Given the description of an element on the screen output the (x, y) to click on. 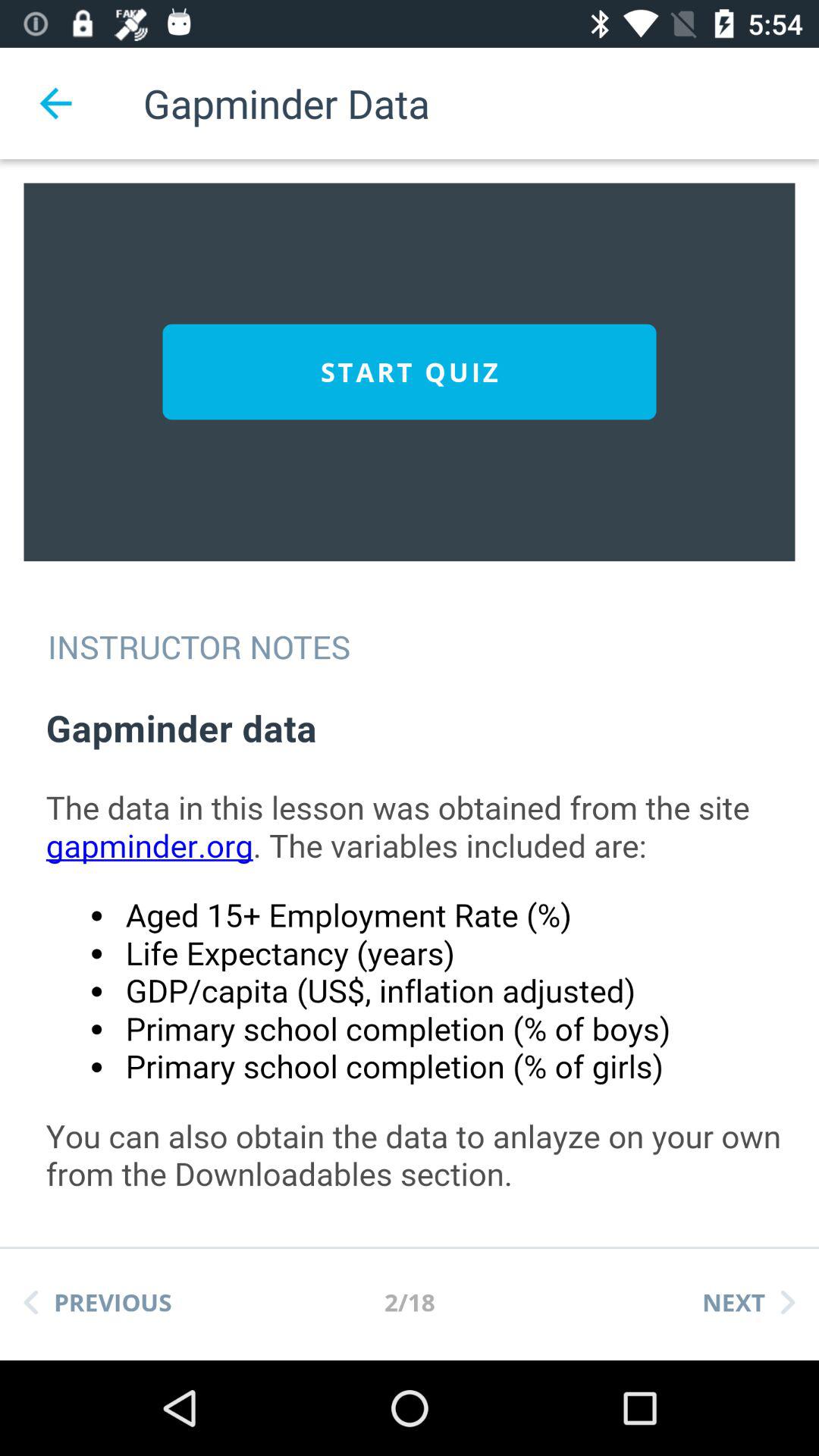
instructor note (424, 958)
